Given the description of an element on the screen output the (x, y) to click on. 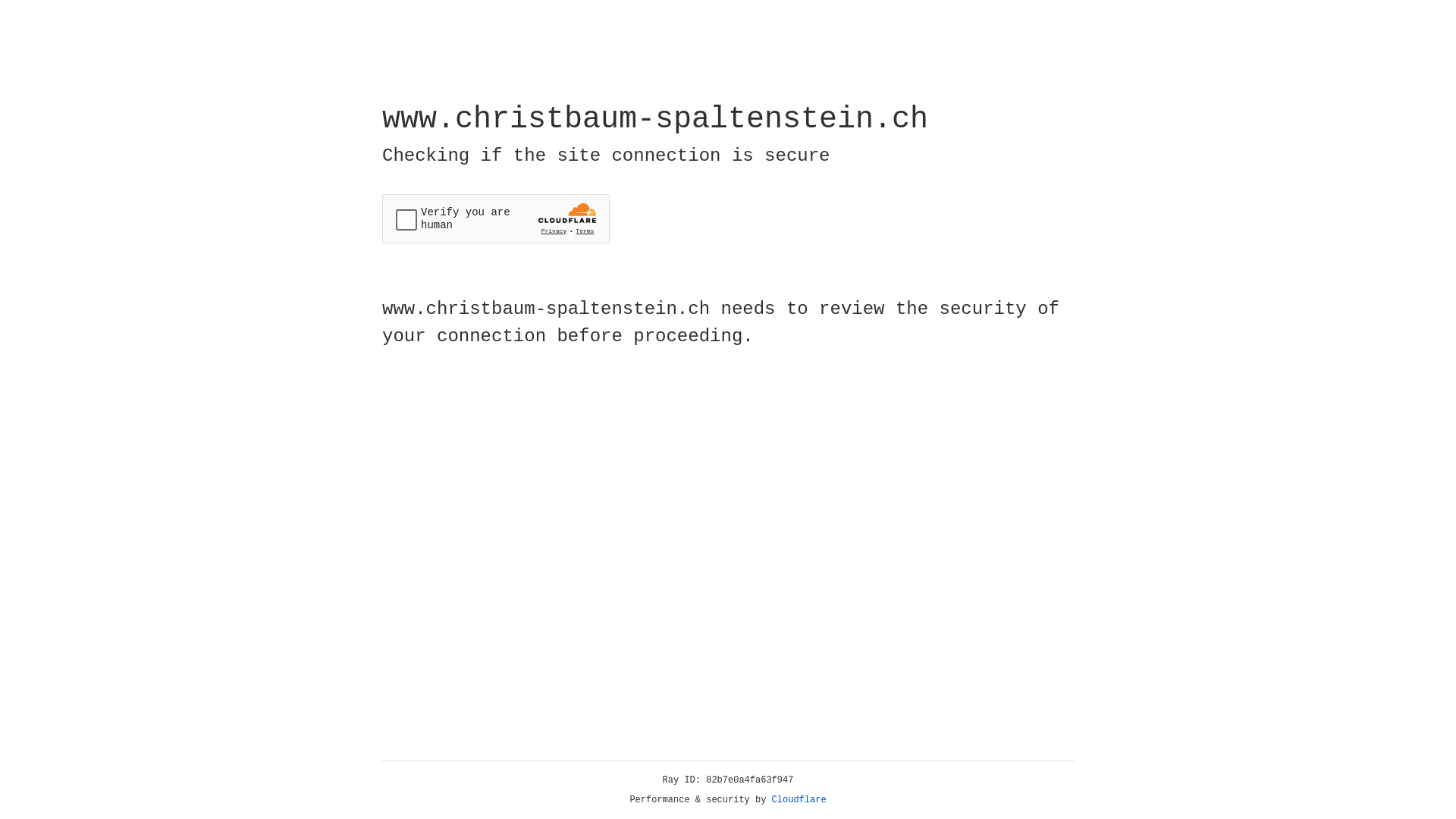
Cloudflare Element type: text (798, 799)
Widget containing a Cloudflare security challenge Element type: hover (495, 218)
